Given the description of an element on the screen output the (x, y) to click on. 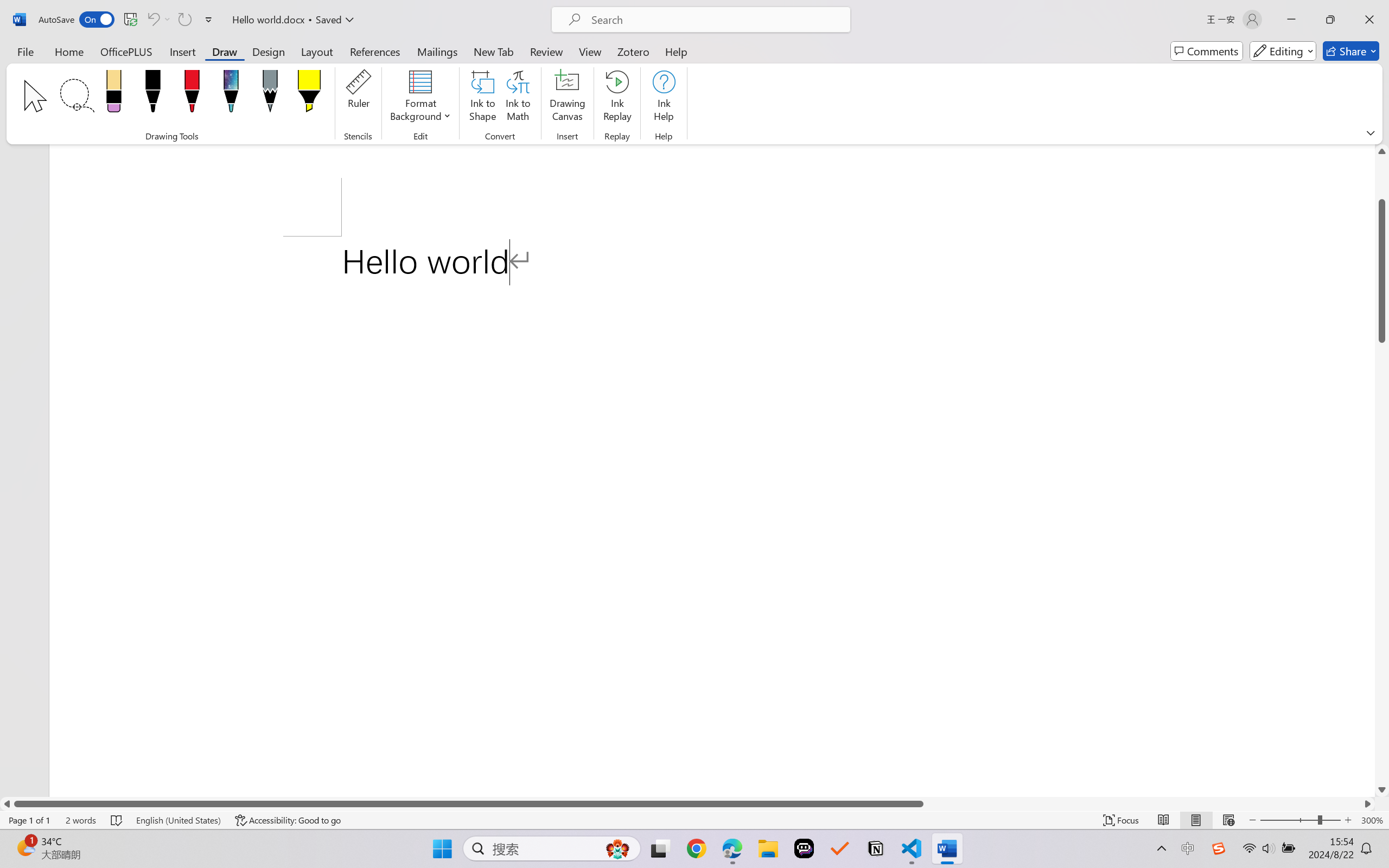
Highlighter: Yellow, 6 mm (309, 94)
Zotero (632, 51)
Zoom In (1348, 819)
Layout (316, 51)
Zoom (1300, 819)
Ink Replay (617, 97)
